Given the description of an element on the screen output the (x, y) to click on. 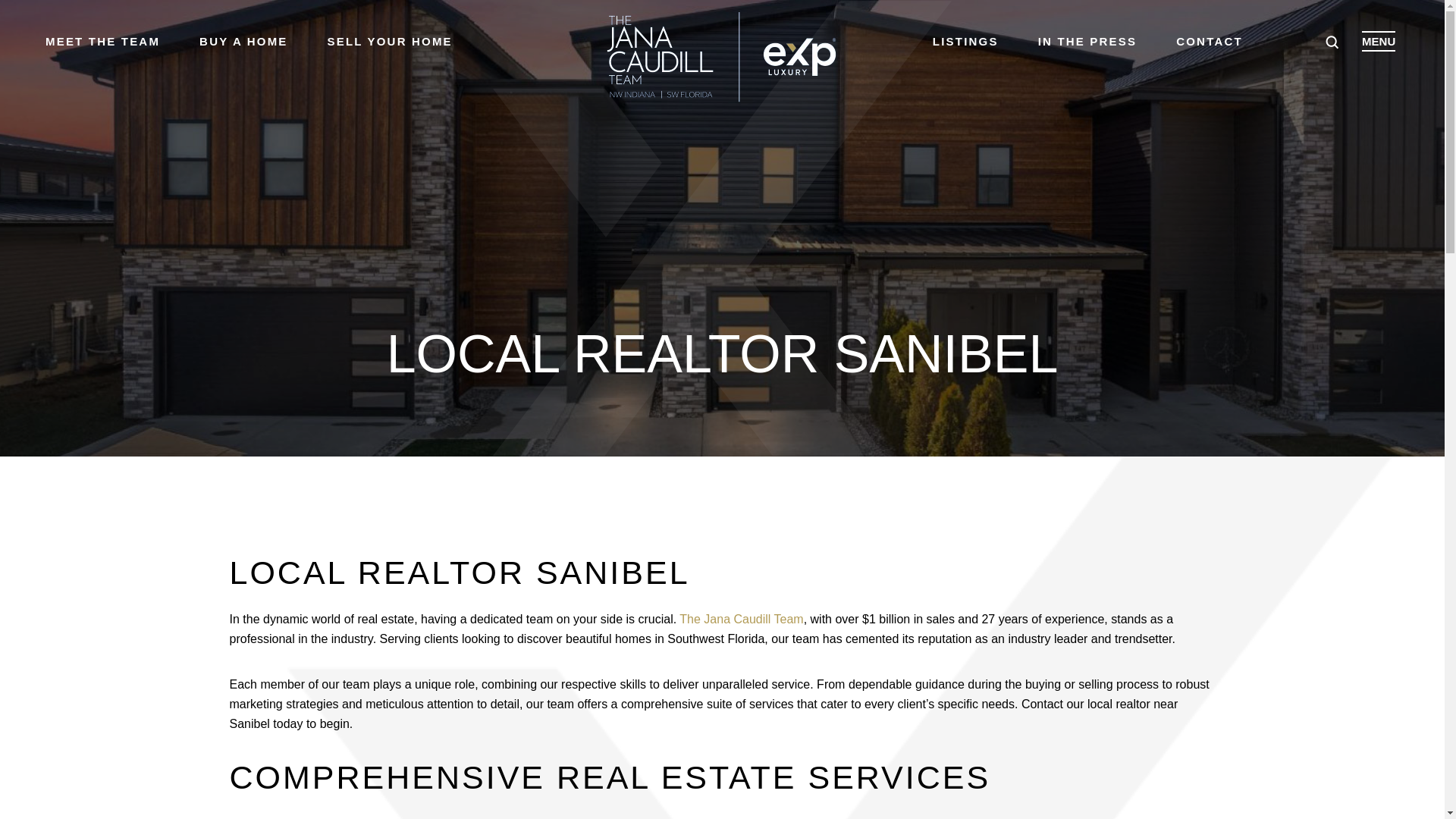
LISTINGS (965, 43)
MENU (1377, 41)
CONTACT (1209, 43)
MEET THE TEAM (102, 43)
SELL YOUR HOME (389, 43)
The Jana Caudill Team (741, 618)
BUY A HOME (242, 43)
IN THE PRESS (1087, 43)
